Given the description of an element on the screen output the (x, y) to click on. 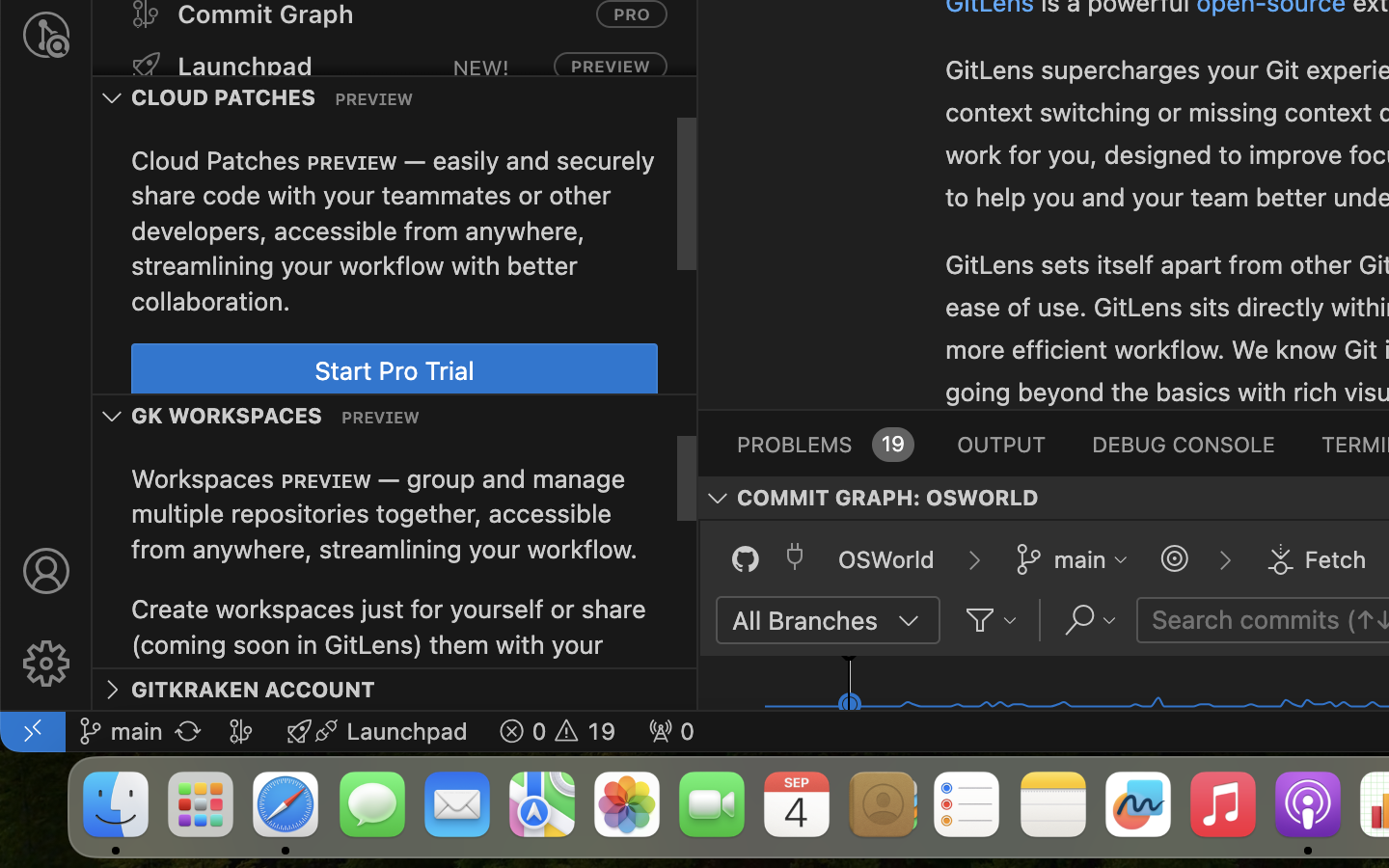
main Element type: AXStaticText (1080, 558)
All Branches Element type: AXComboBox (805, 619)
 0 Element type: AXButton (671, 730)
0 PROBLEMS 19 Element type: AXRadioButton (824, 443)
 Element type: AXStaticText (1279, 558)
